Given the description of an element on the screen output the (x, y) to click on. 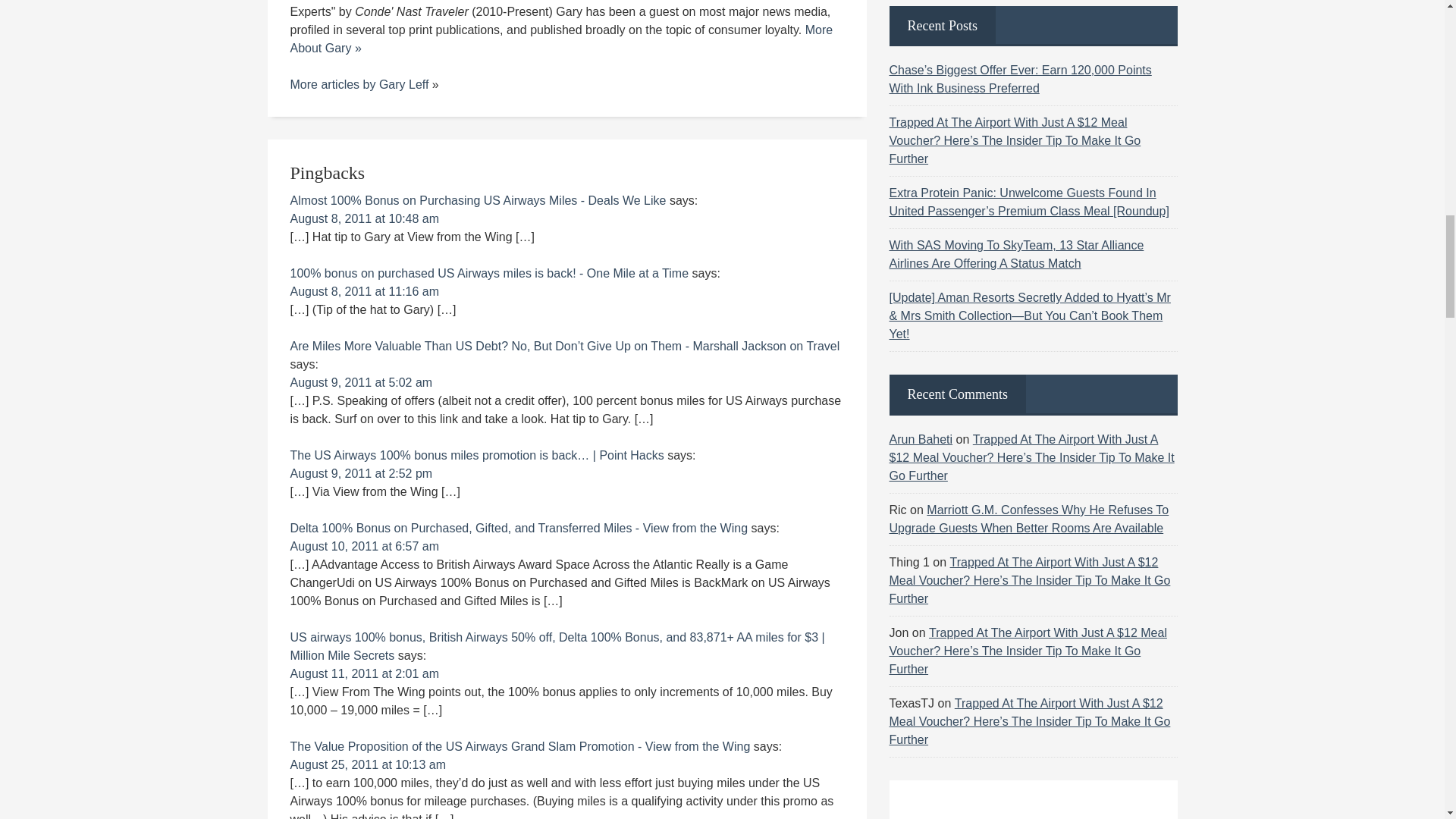
August 9, 2011 at 2:52 pm (360, 472)
August 8, 2011 at 10:48 am (364, 218)
August 8, 2011 at 11:16 am (364, 291)
Gary Leff (403, 83)
More articles by (333, 83)
August 9, 2011 at 5:02 am (360, 382)
